Given the description of an element on the screen output the (x, y) to click on. 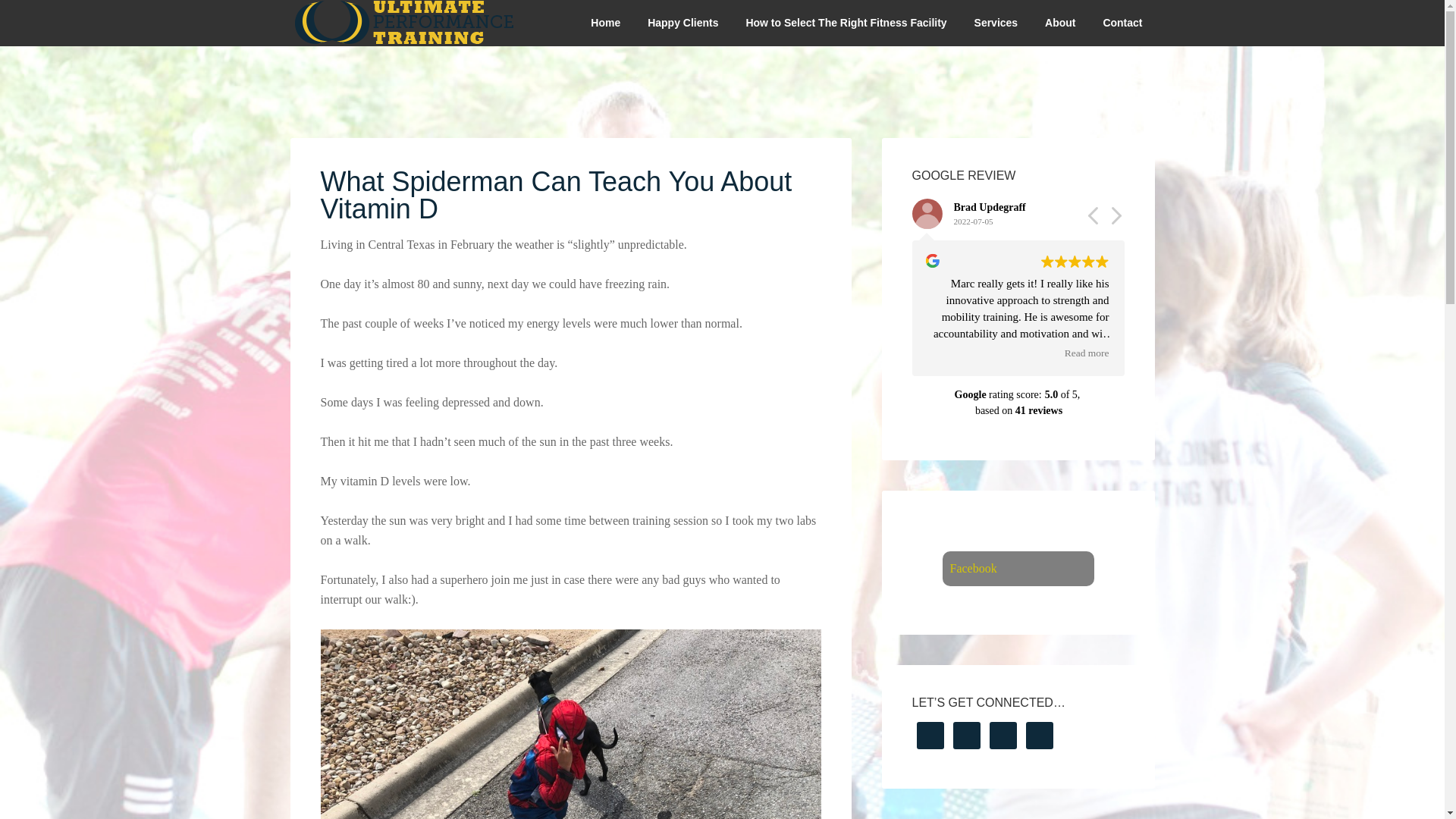
Contact (1122, 22)
How to Select The Right Fitness Facility (845, 22)
Happy Clients (682, 22)
ULTIMATE PERFORMANCE TRAINING (402, 22)
About (1059, 22)
Services (996, 22)
Home (604, 22)
Facebook (972, 567)
